Given the description of an element on the screen output the (x, y) to click on. 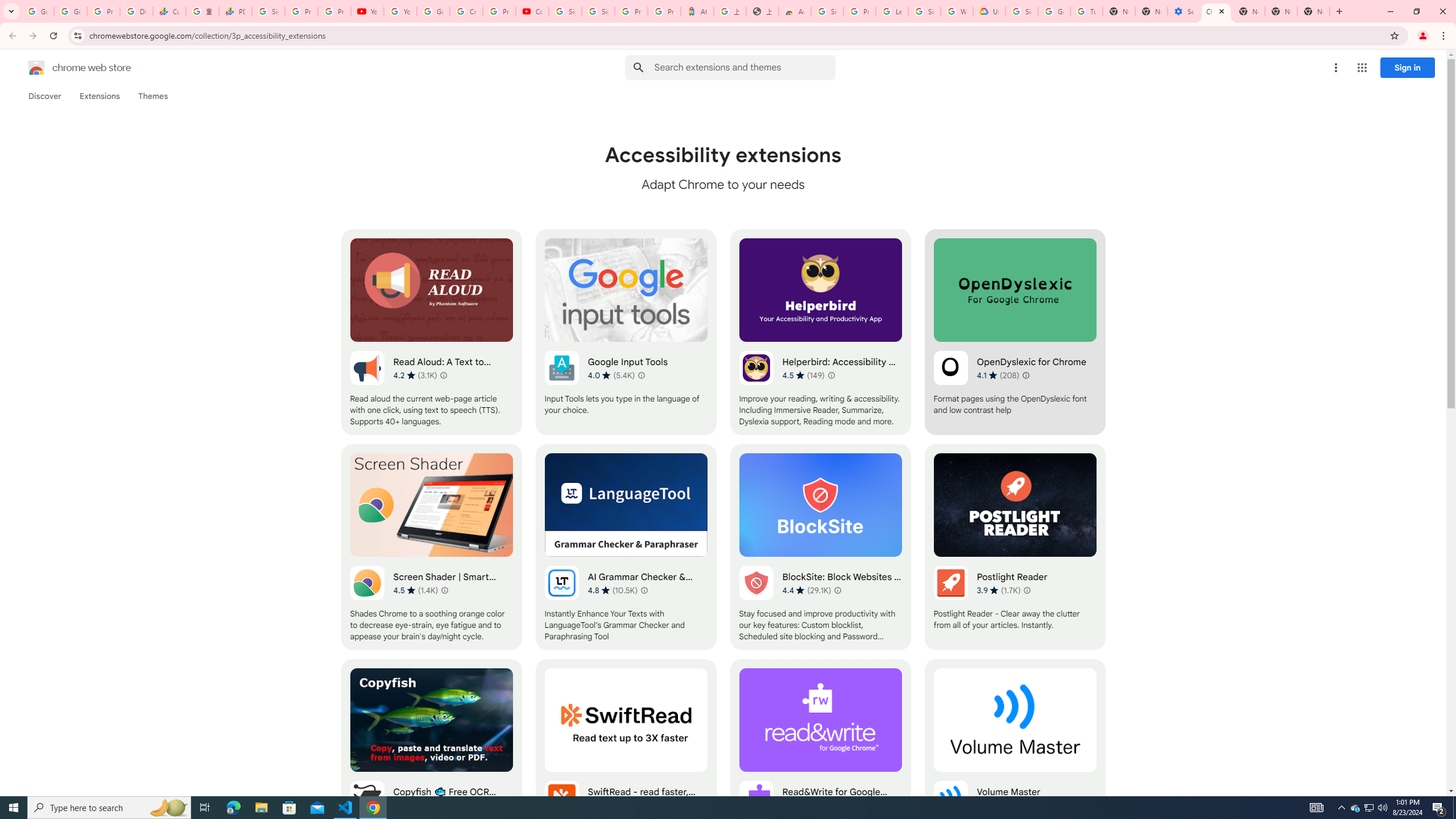
New Tab (1248, 11)
Discover (43, 95)
Helperbird: Accessibility & Productivity App (820, 331)
Sign in - Google Accounts (598, 11)
Who are Google's partners? - Privacy and conditions - Google (957, 11)
Chrome Web Store - Accessibility extensions (1216, 11)
